Given the description of an element on the screen output the (x, y) to click on. 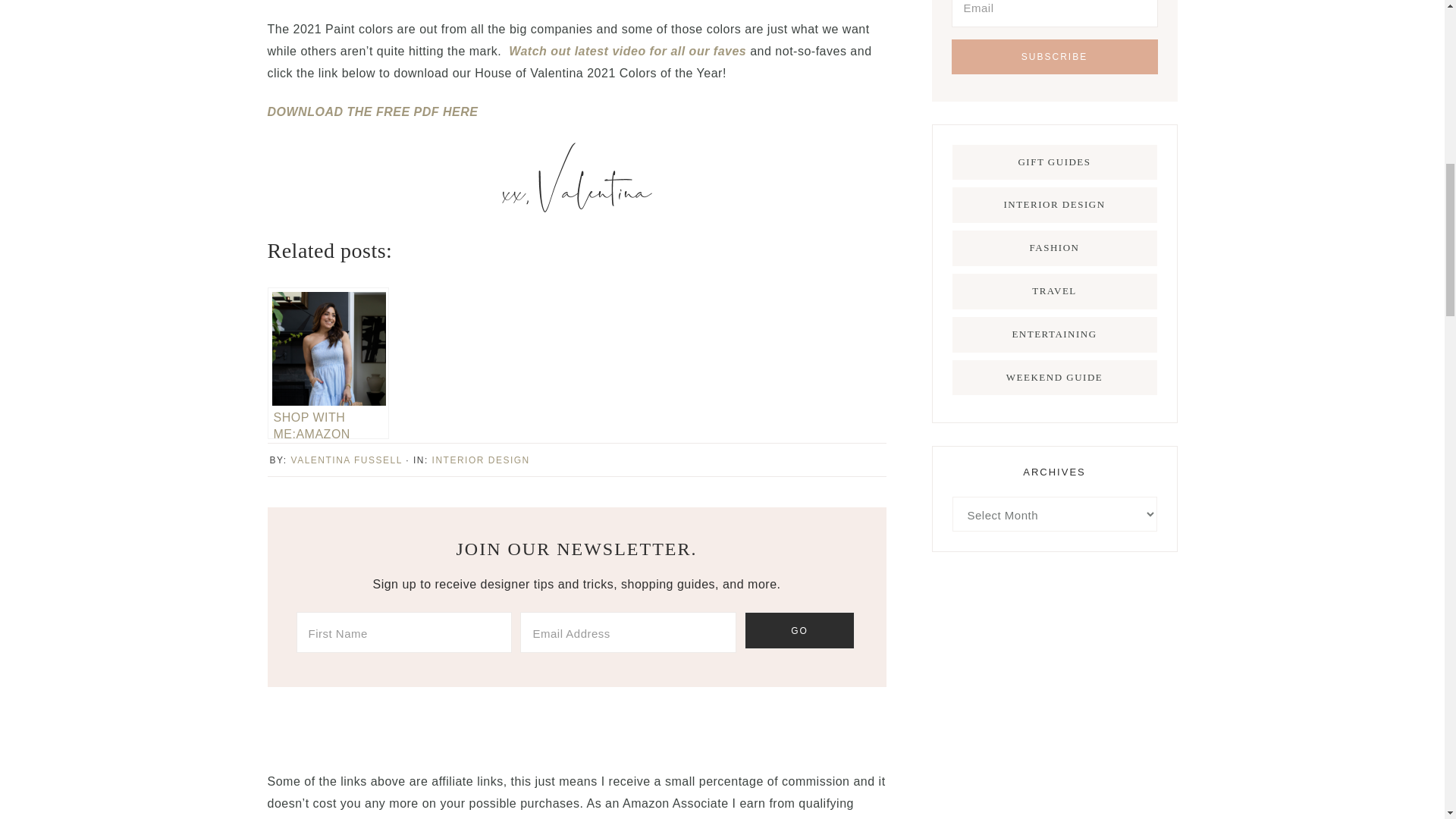
Subscribe (1053, 56)
Go (798, 630)
